Given the description of an element on the screen output the (x, y) to click on. 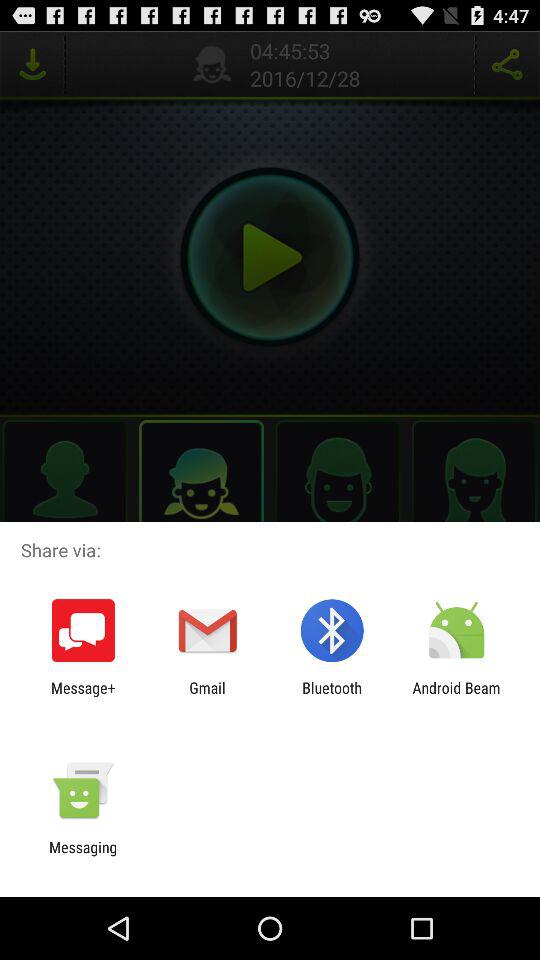
press the icon next to gmail app (83, 696)
